Given the description of an element on the screen output the (x, y) to click on. 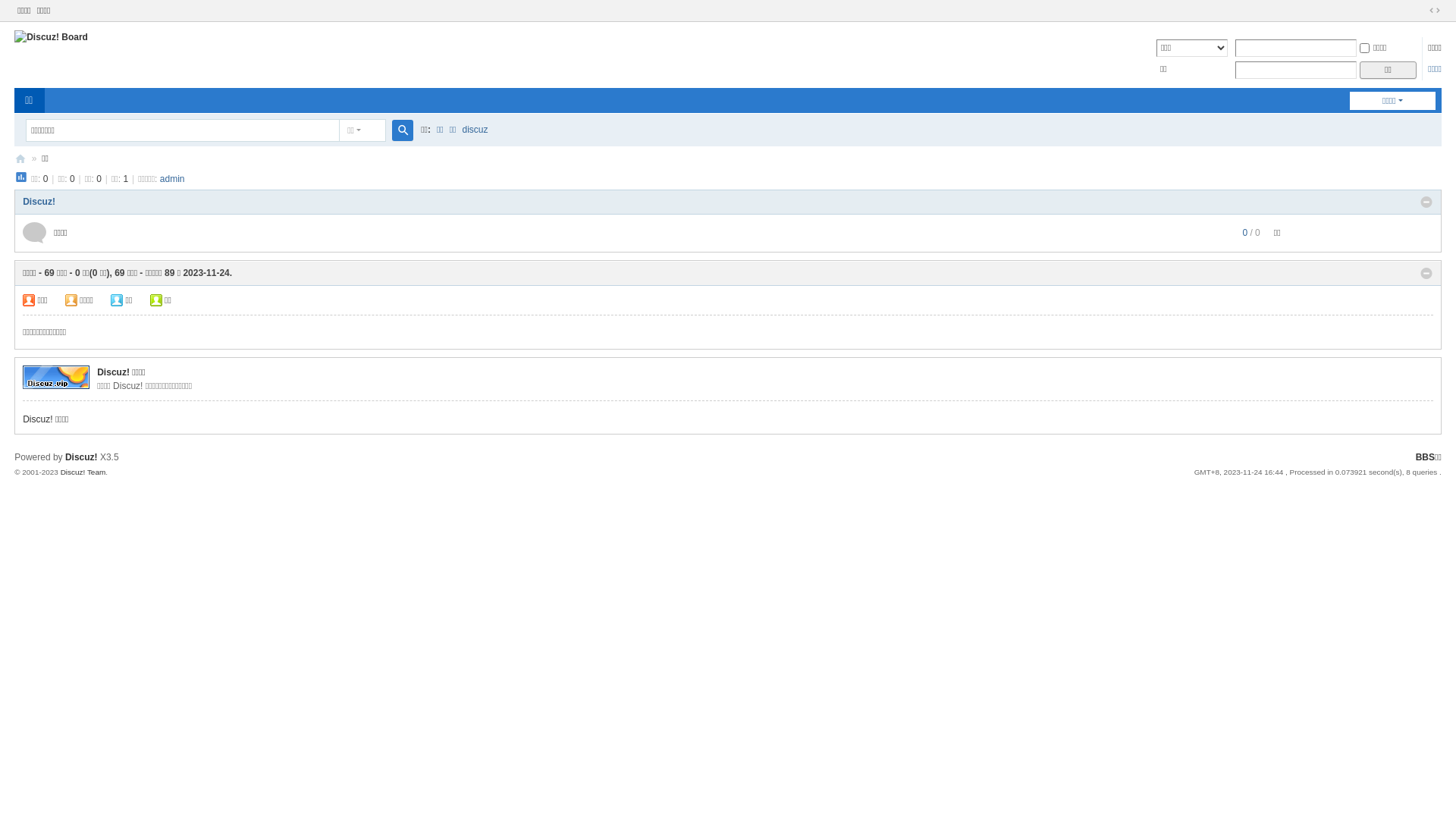
true Element type: text (402, 130)
Discuz! Element type: text (81, 456)
admin Element type: text (172, 178)
Discuz! Element type: text (38, 201)
Discuz! Team Element type: text (83, 471)
discuz Element type: text (475, 129)
